Given the description of an element on the screen output the (x, y) to click on. 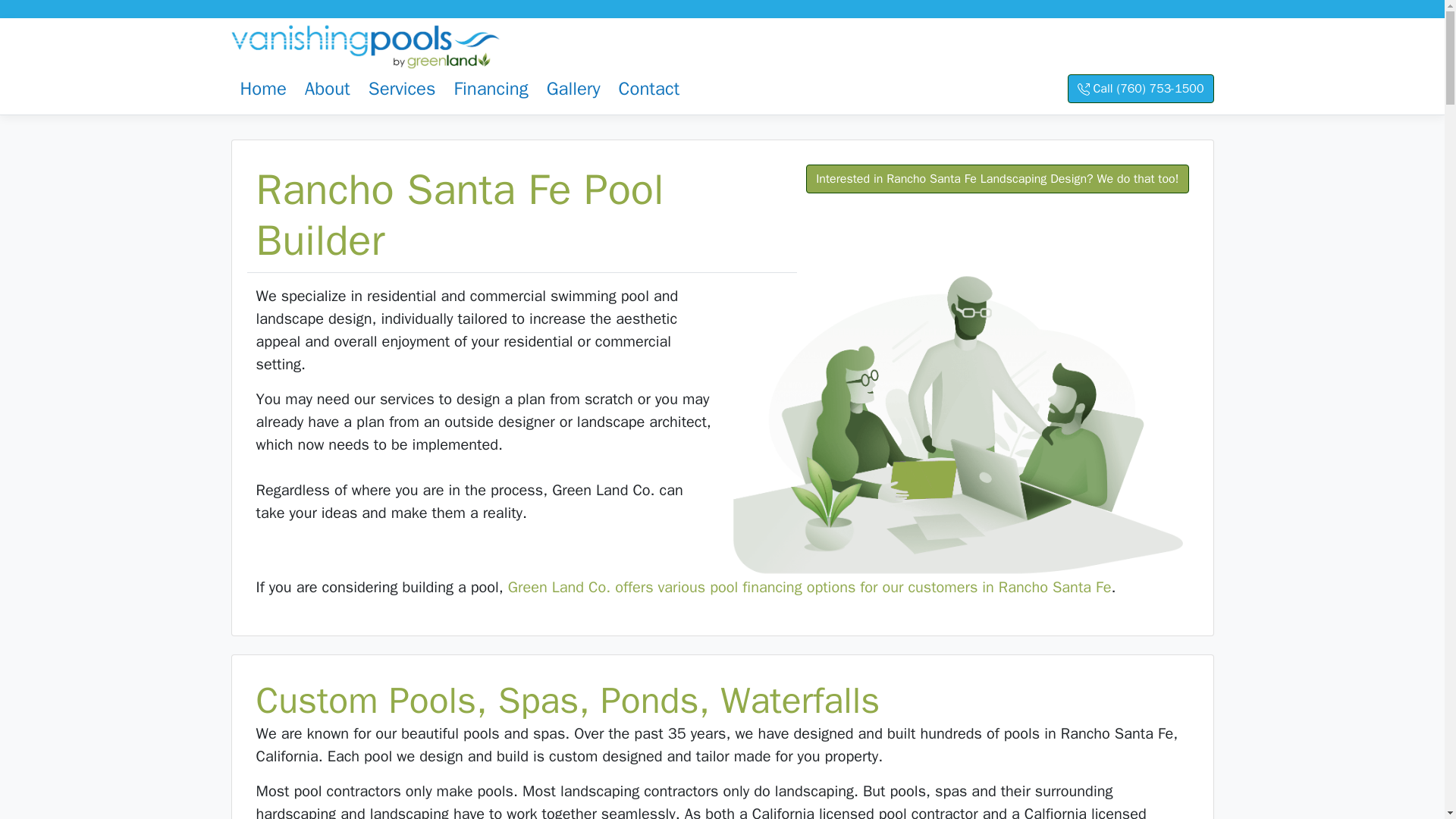
Services (402, 88)
Gallery (573, 88)
Contact (648, 88)
Home (262, 88)
About (327, 88)
Financing (490, 88)
